Given the description of an element on the screen output the (x, y) to click on. 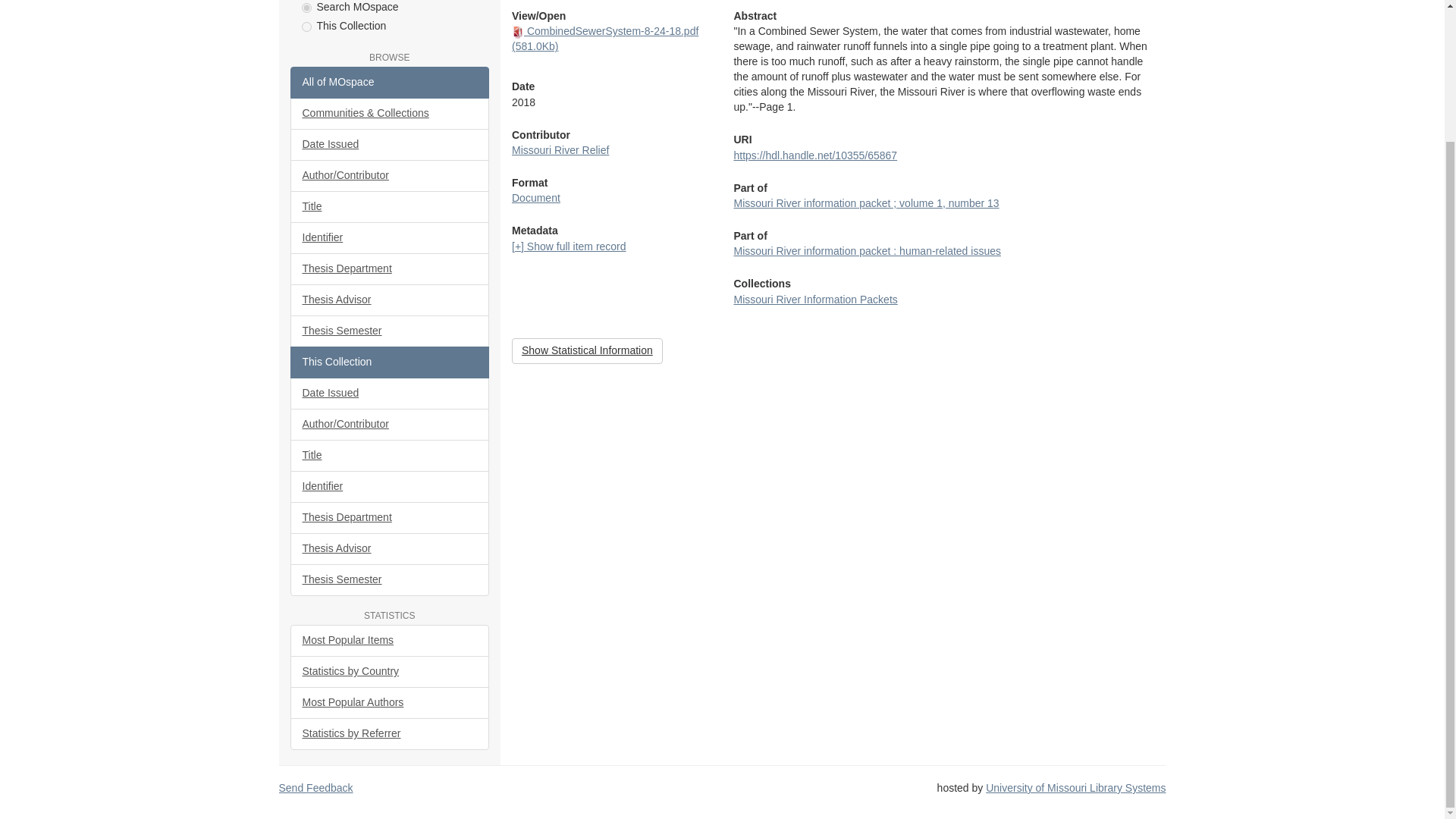
This Collection (389, 362)
Identifier (389, 237)
Title (389, 206)
Date Issued (389, 393)
Thesis Department (389, 269)
PDF file (518, 32)
All of MOspace (389, 82)
Thesis Advisor (389, 300)
Date Issued (389, 144)
Thesis Semester (389, 331)
